Given the description of an element on the screen output the (x, y) to click on. 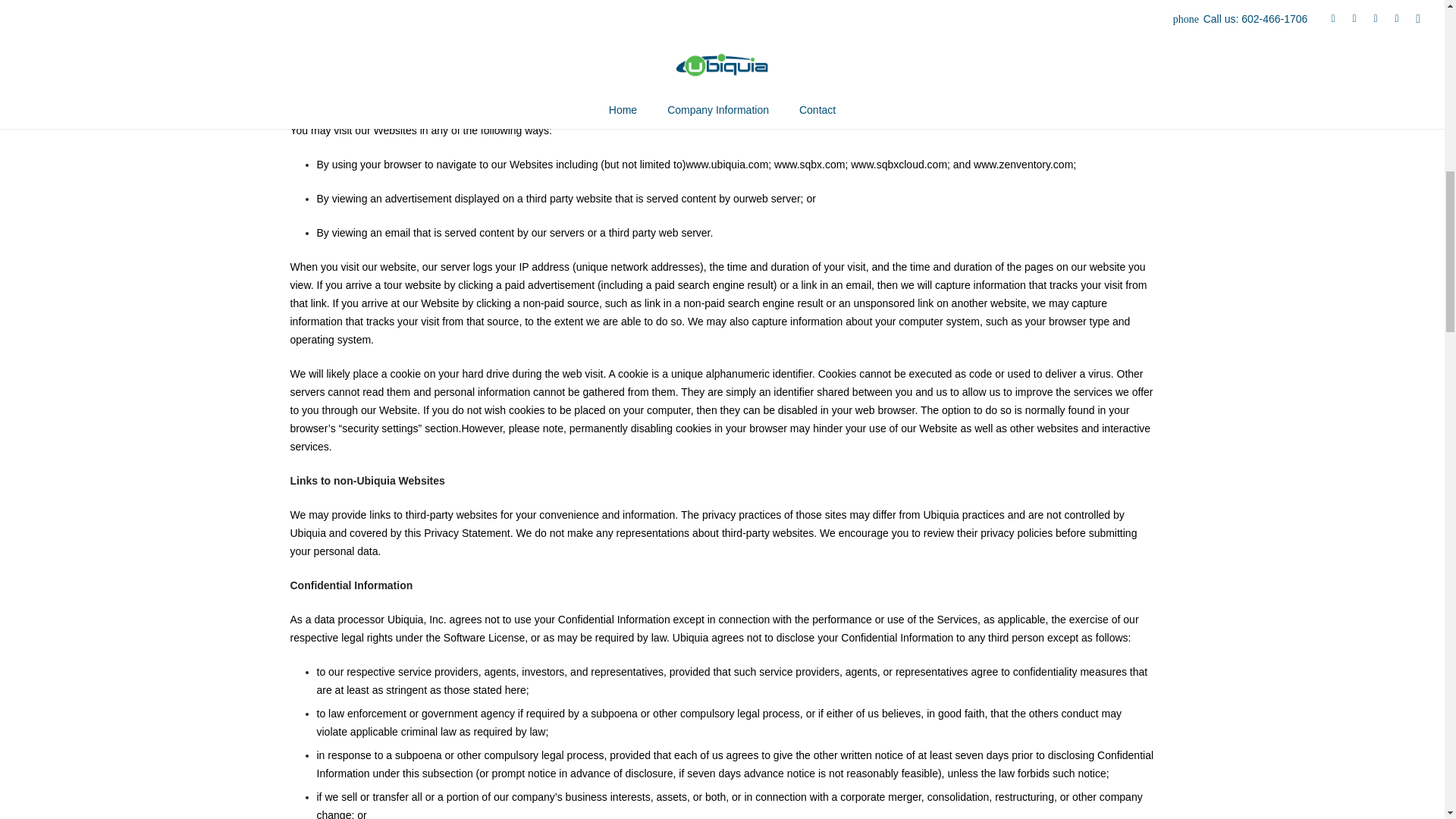
Back to top (1413, 22)
